Given the description of an element on the screen output the (x, y) to click on. 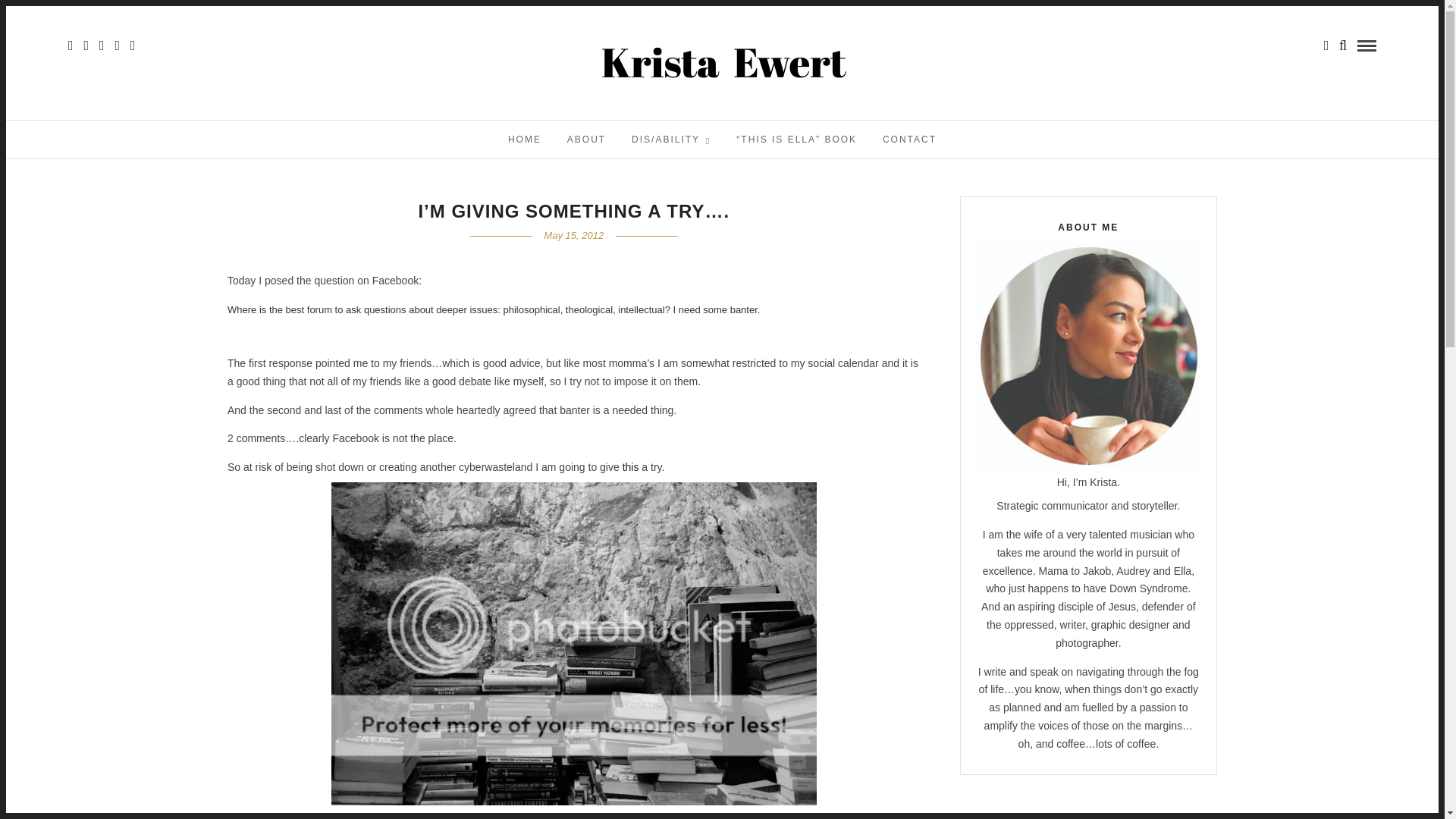
ABOUT (586, 139)
HOME (524, 139)
CONTACT (908, 139)
this (631, 467)
